Given the description of an element on the screen output the (x, y) to click on. 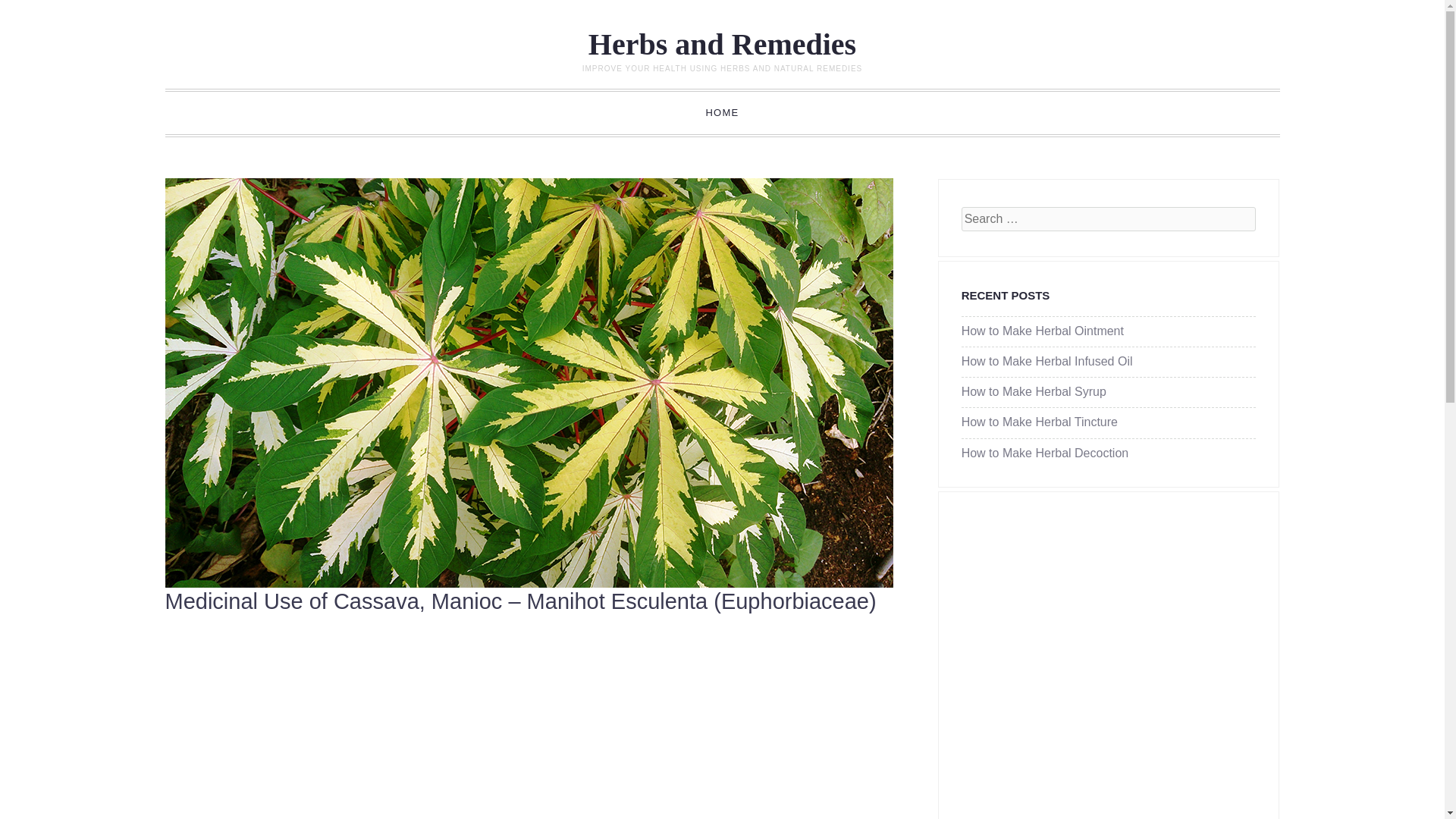
Search (33, 12)
Advertisement (521, 729)
How to Make Herbal Tincture (1039, 421)
How to Make Herbal Infused Oil (1046, 360)
How to Make Herbal Decoction (1044, 452)
HOME (722, 112)
How to Make Herbal Ointment (1042, 330)
Skip to content (230, 112)
Herbs and Remedies (722, 44)
How to Make Herbal Syrup (1033, 391)
